Given the description of an element on the screen output the (x, y) to click on. 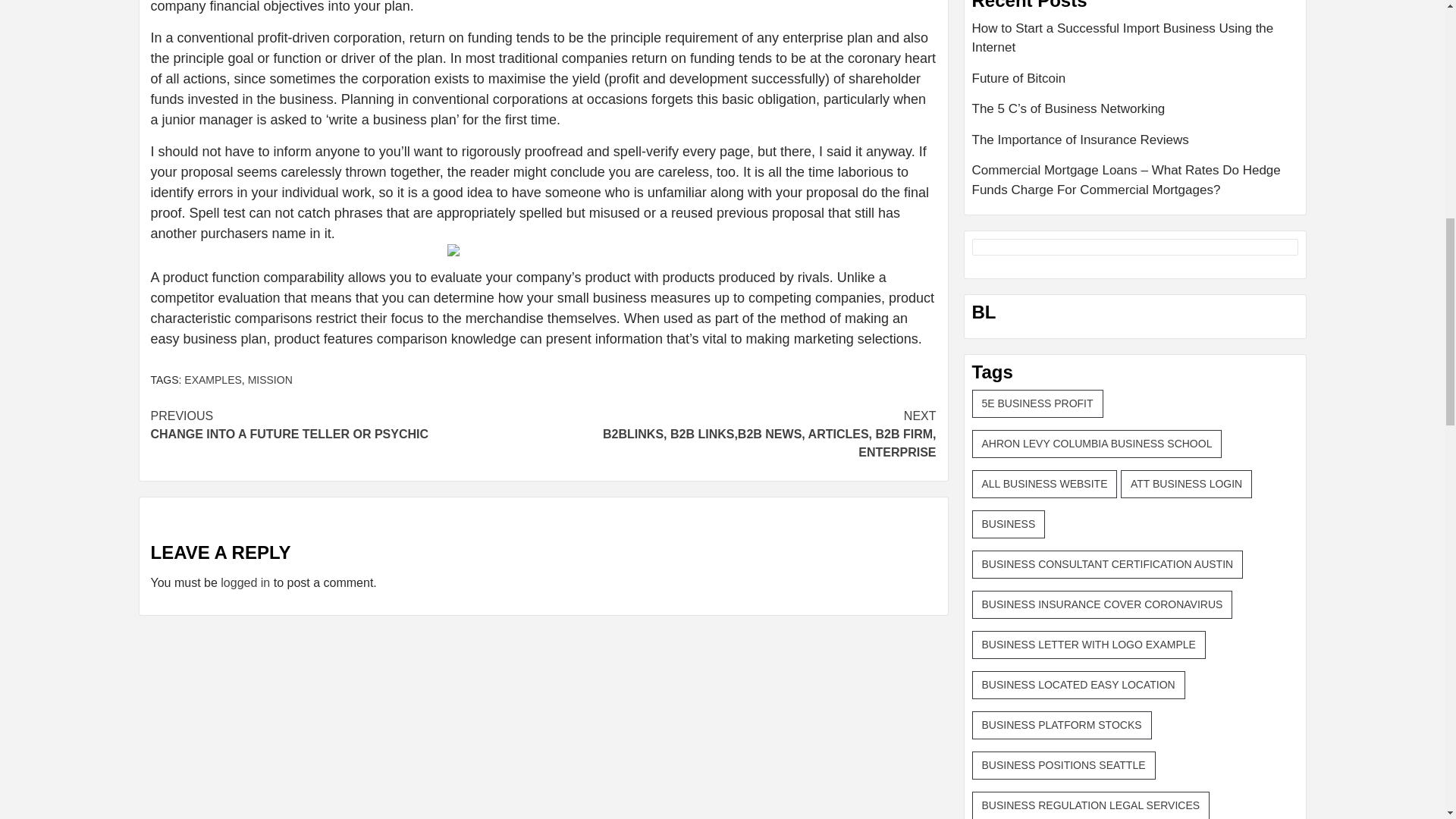
5E BUSINESS PROFIT (1037, 403)
BUSINESS CONSULTANT CERTIFICATION AUSTIN (1107, 564)
The Importance of Insurance Reviews (1135, 145)
How to Start a Successful Import Business Using the Internet (1135, 43)
BUSINESS (1008, 524)
logged in (245, 582)
Future of Bitcoin (1135, 83)
EXAMPLES (346, 425)
